Given the description of an element on the screen output the (x, y) to click on. 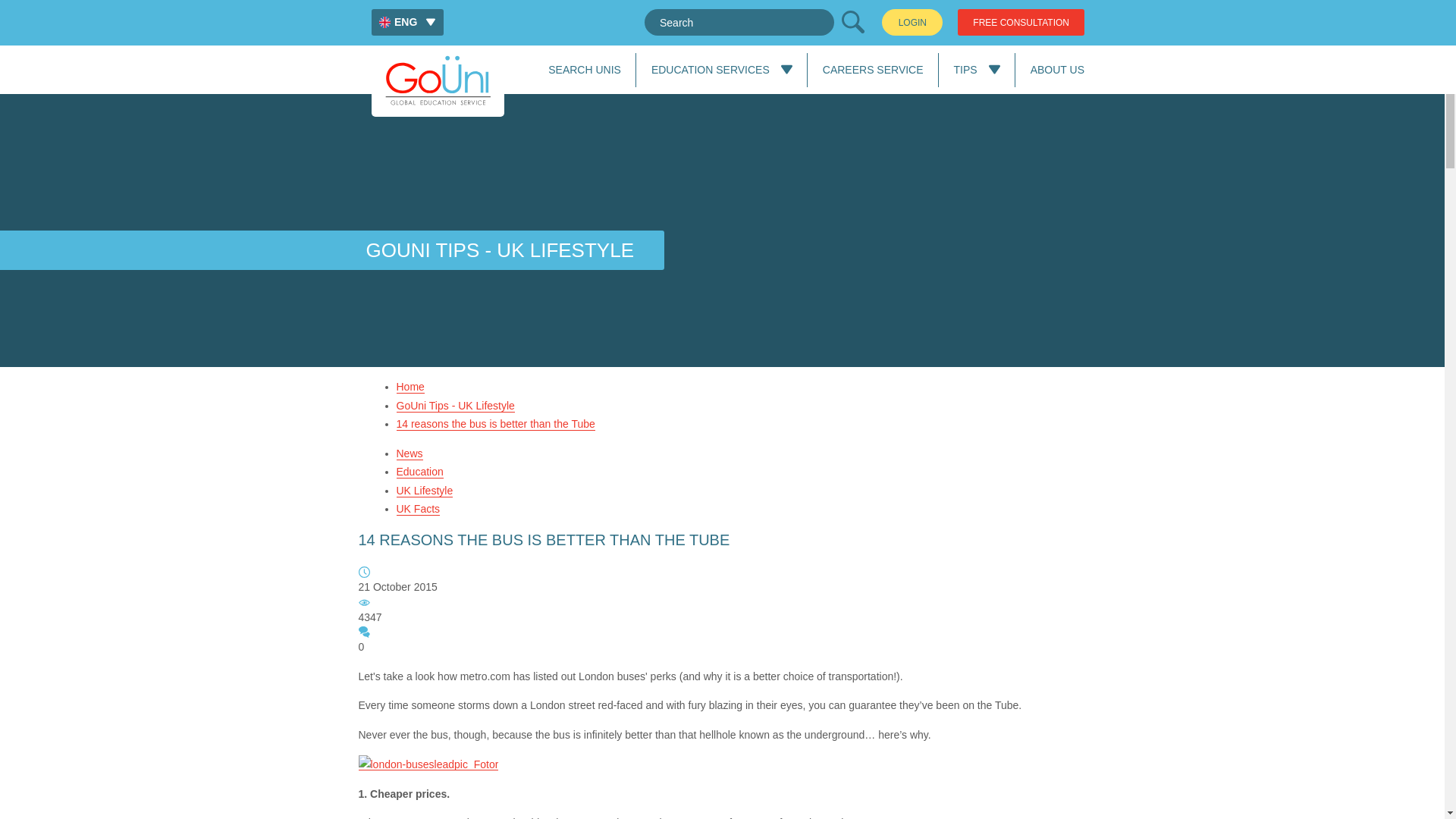
ABOUT US (1057, 69)
SEARCH UNIS (584, 69)
ENG (407, 22)
Tips (964, 69)
UK Facts (417, 508)
Home (409, 386)
About Us (1057, 69)
EDUCATION SERVICES (710, 69)
FREE CONSULTATION (1021, 22)
GoUni Homepage (437, 79)
Education (419, 472)
Services (710, 69)
GoUni Tips - UK Lifestyle (454, 404)
LOGIN (912, 22)
Search Unis (584, 69)
